Given the description of an element on the screen output the (x, y) to click on. 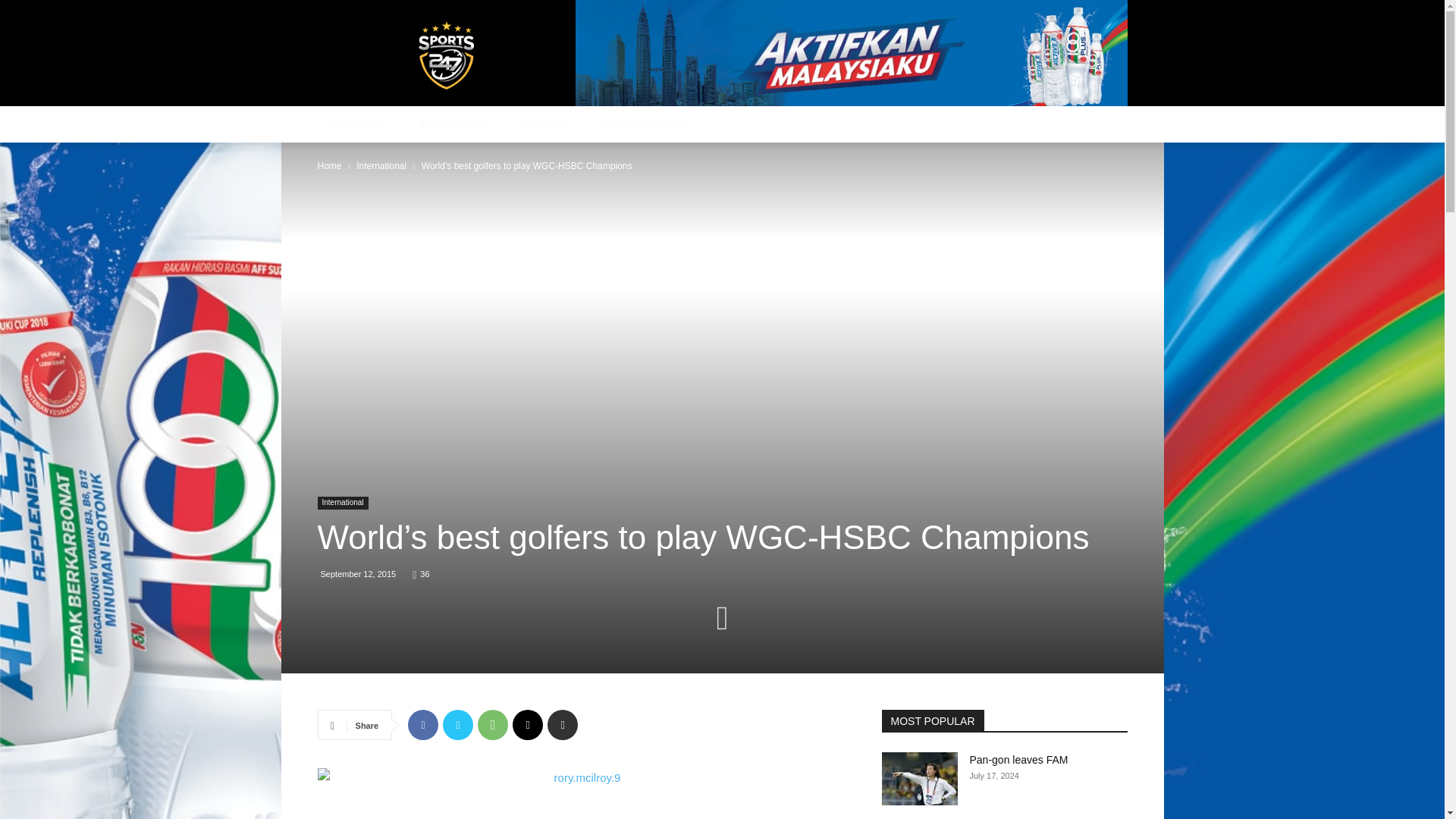
FOOTBALL (363, 124)
BADMINTON (458, 124)
